Given the description of an element on the screen output the (x, y) to click on. 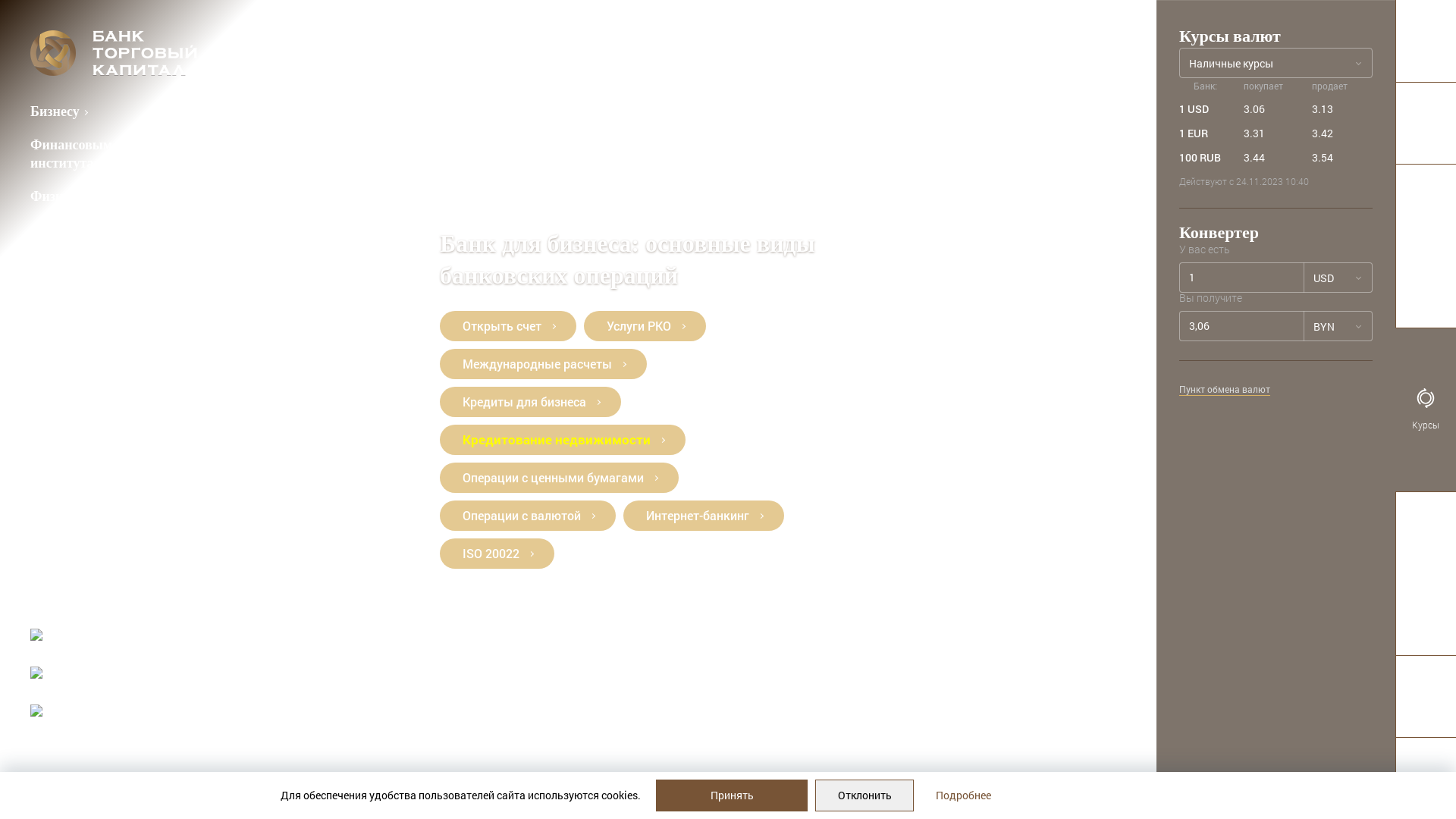
ISO 20022 Element type: text (496, 553)
